Given the description of an element on the screen output the (x, y) to click on. 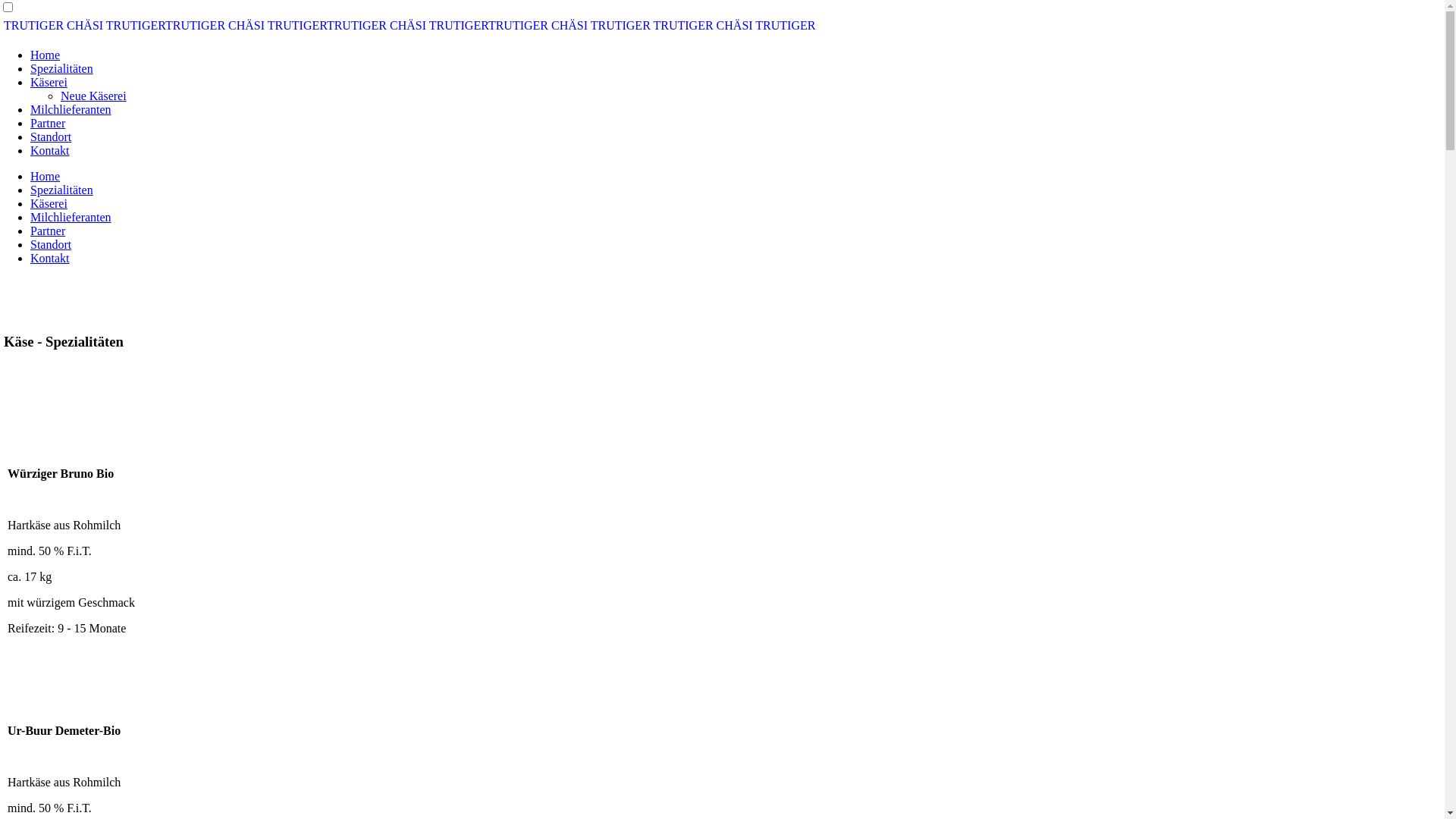
Partner Element type: text (47, 122)
Standort Element type: text (50, 244)
Standort Element type: text (50, 136)
Partner Element type: text (47, 230)
Kontakt Element type: text (49, 257)
Milchlieferanten Element type: text (70, 109)
Home Element type: text (44, 175)
Milchlieferanten Element type: text (70, 216)
Home Element type: text (44, 54)
Kontakt Element type: text (49, 150)
